Given the description of an element on the screen output the (x, y) to click on. 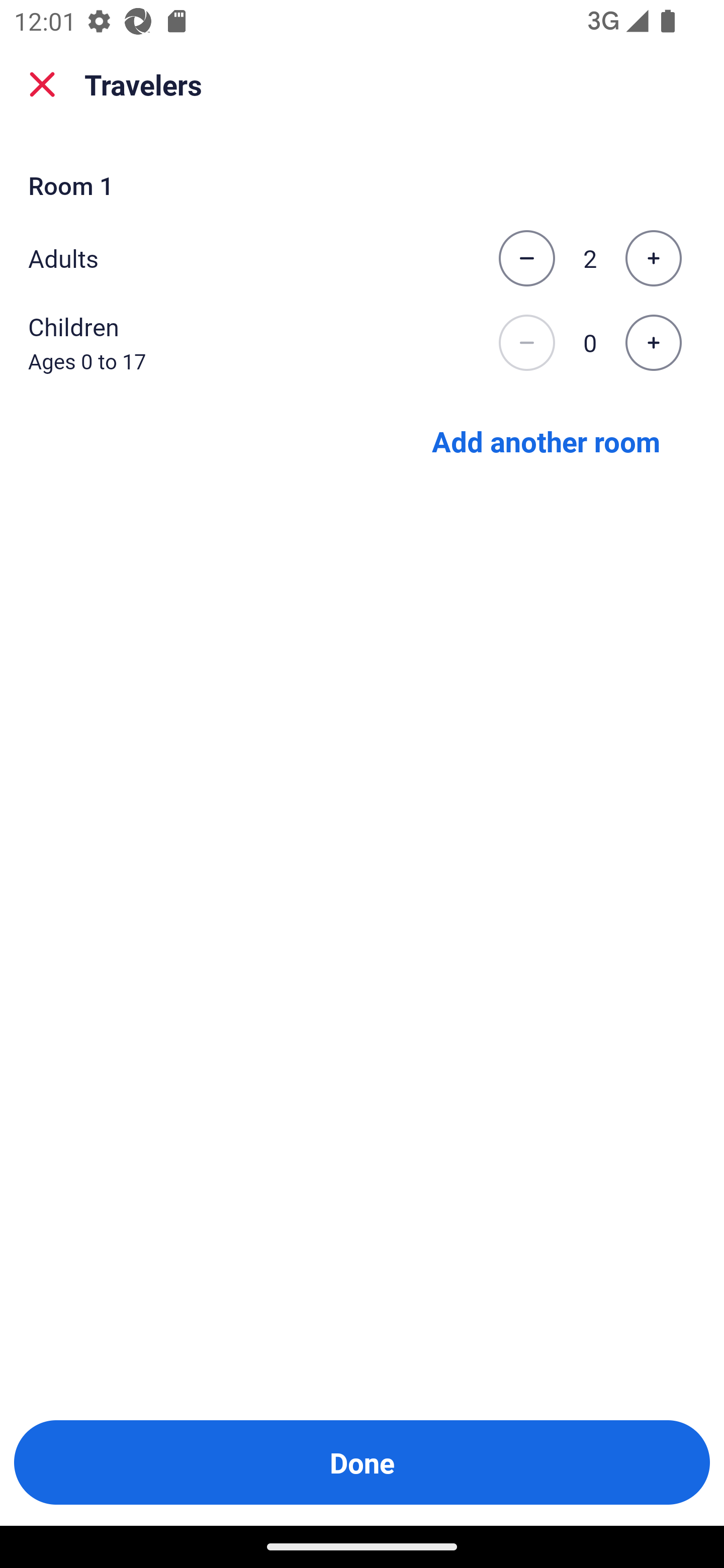
close (42, 84)
Decrease the number of adults (526, 258)
Increase the number of adults (653, 258)
Decrease the number of children (526, 343)
Increase the number of children (653, 343)
Add another room (545, 440)
Done (361, 1462)
